Given the description of an element on the screen output the (x, y) to click on. 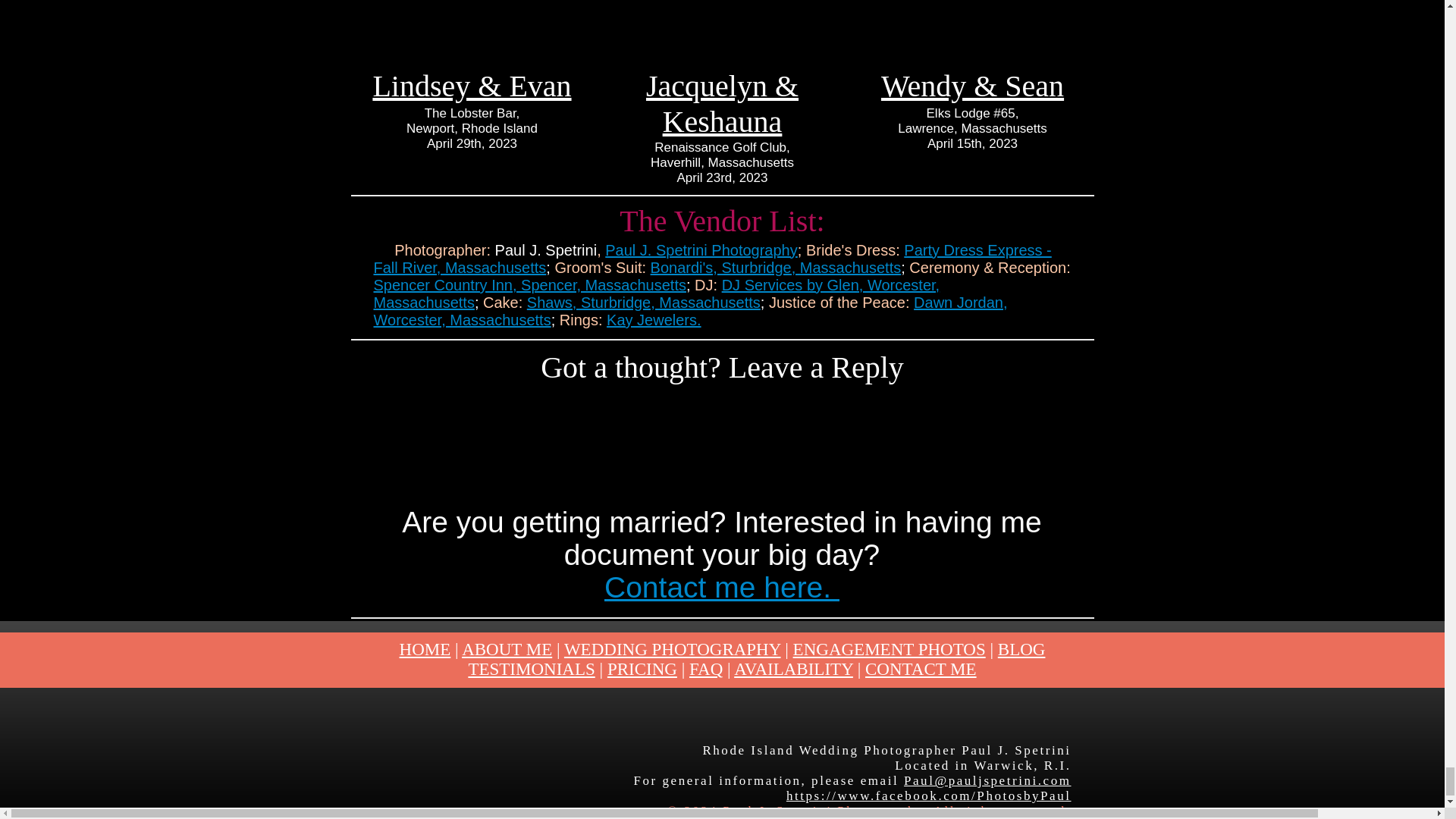
Shaws, Sturbridge, Massachusetts (643, 302)
ABOUT ME (506, 649)
Spencer Country Inn, Spencer, Massachusetts (528, 284)
PRICING (642, 669)
Contact me here.  (722, 586)
Paul J. Spetrini Photography (701, 249)
Party Dress Express - Fall River, Massachusetts (711, 258)
TESTIMONIALS (530, 669)
FAQ (705, 669)
WEDDING PHOTOGRAPHY (672, 649)
Dawn Jordan, Worcester, Massachusetts (689, 311)
Kay Jewelers. (654, 320)
BLOG (1021, 649)
HOME (424, 649)
CONTACT ME (920, 669)
